Given the description of an element on the screen output the (x, y) to click on. 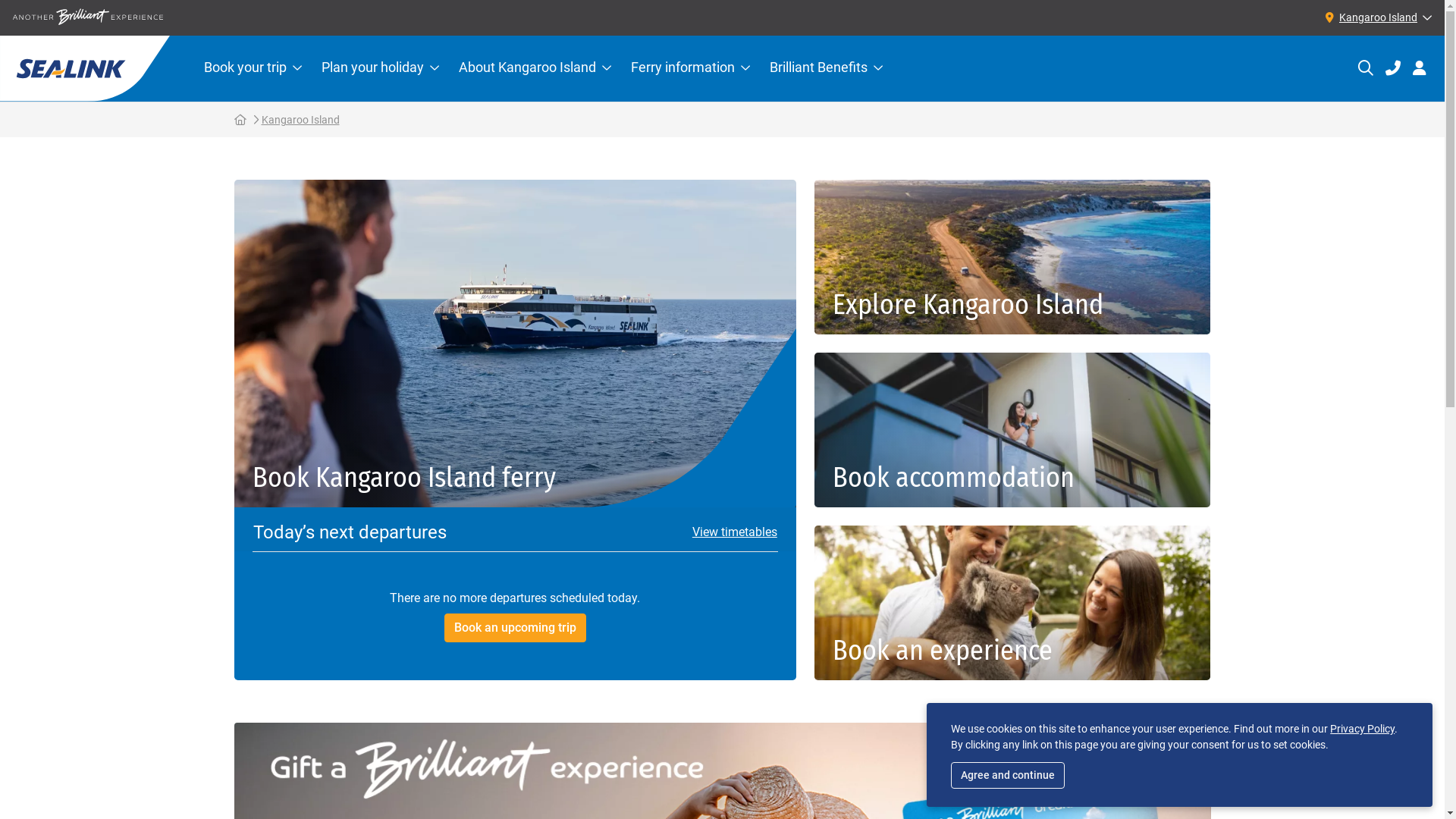
Privacy Policy Element type: text (1362, 728)
Another Brilliant experience Element type: hover (87, 17)
Agree and continue Element type: text (1007, 775)
Search Element type: hover (1365, 68)
Book Kangaroo Island ferry Element type: text (514, 343)
Call us Element type: hover (1392, 68)
View timetables Element type: text (730, 531)
Plan your holiday Element type: text (379, 68)
Book an upcoming trip Element type: text (515, 627)
SeaLink Element type: hover (84, 68)
About Kangaroo Island Element type: text (534, 68)
Explore Kangaroo Island Element type: text (1012, 256)
Your account / Manage bookings Element type: hover (1419, 68)
Kangaroo Island Element type: text (1375, 17)
Book accommodation Element type: text (1012, 429)
Kangaroo Island Element type: text (299, 119)
Book your trip Element type: text (252, 68)
Brilliant Benefits Element type: text (825, 68)
Ferry information Element type: text (690, 68)
Book an experience Element type: text (1012, 602)
